Given the description of an element on the screen output the (x, y) to click on. 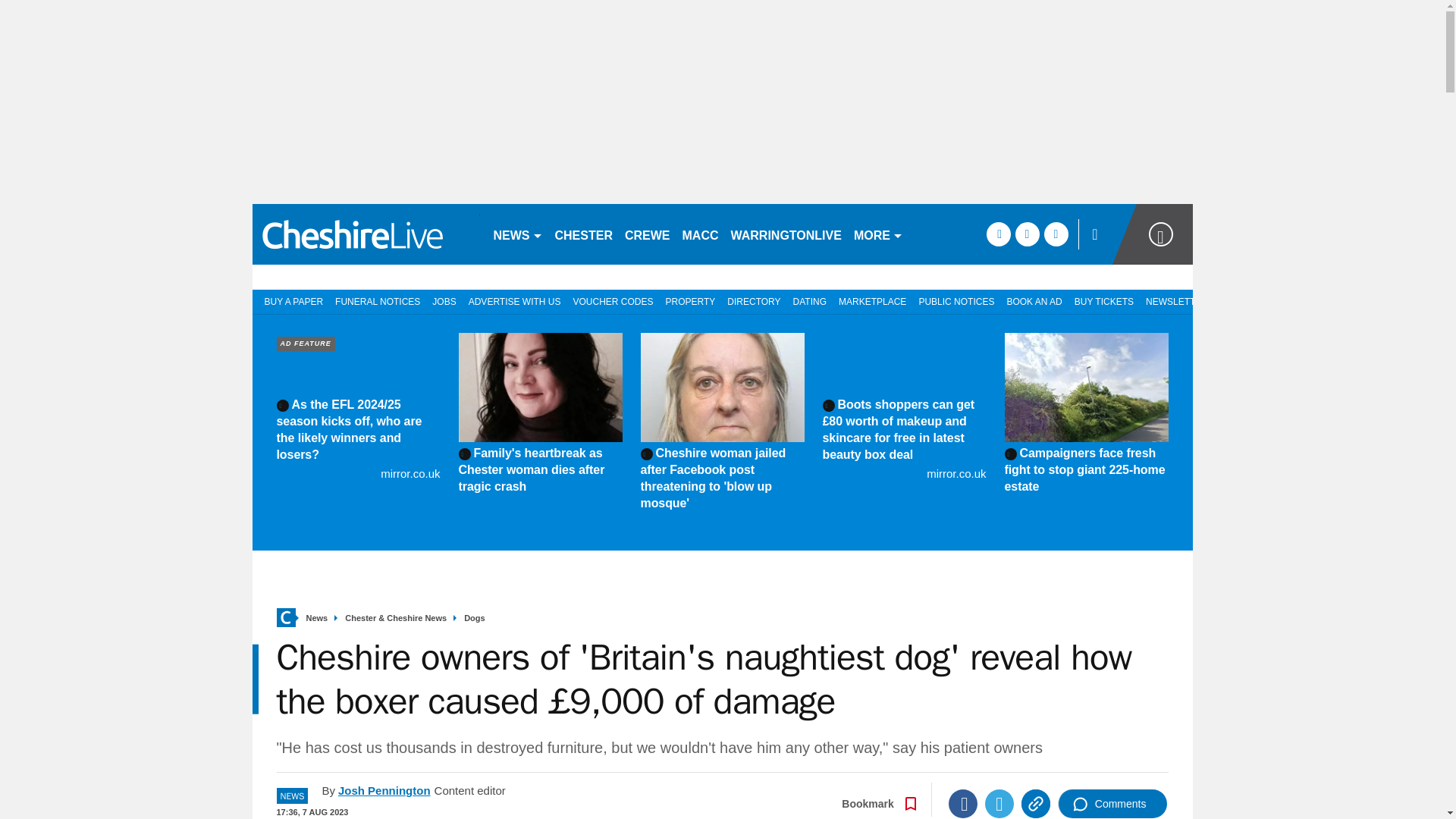
chesterchronicle (365, 233)
instagram (1055, 233)
NEWS (517, 233)
Facebook (962, 803)
Twitter (999, 803)
MORE (877, 233)
Comments (1112, 803)
WARRINGTONLIVE (786, 233)
CREWE (647, 233)
CHESTER (583, 233)
